Given the description of an element on the screen output the (x, y) to click on. 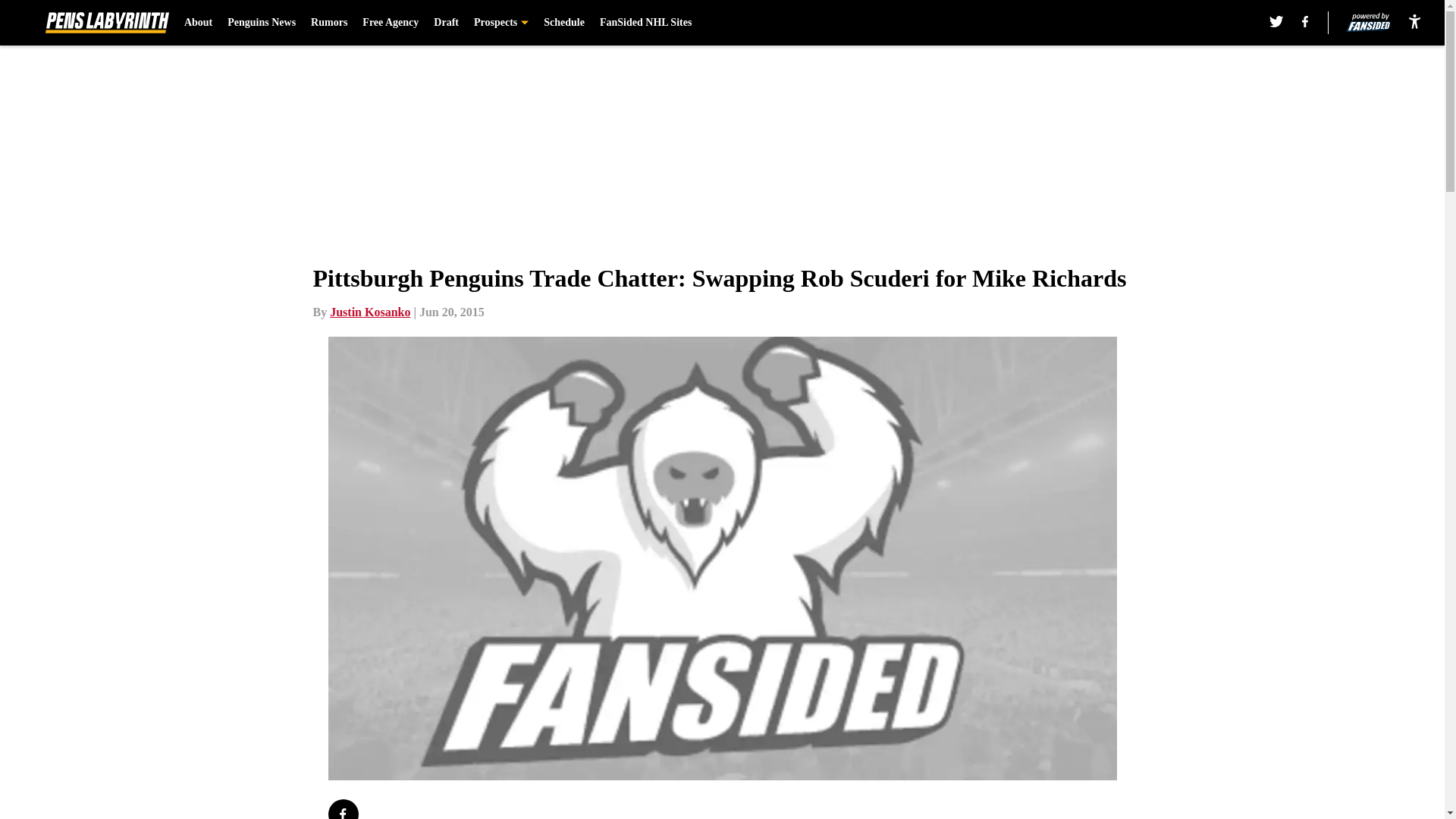
Schedule (564, 22)
Free Agency (390, 22)
Penguins News (261, 22)
FanSided NHL Sites (645, 22)
Justin Kosanko (370, 311)
Rumors (329, 22)
About (198, 22)
Draft (445, 22)
